Given the description of an element on the screen output the (x, y) to click on. 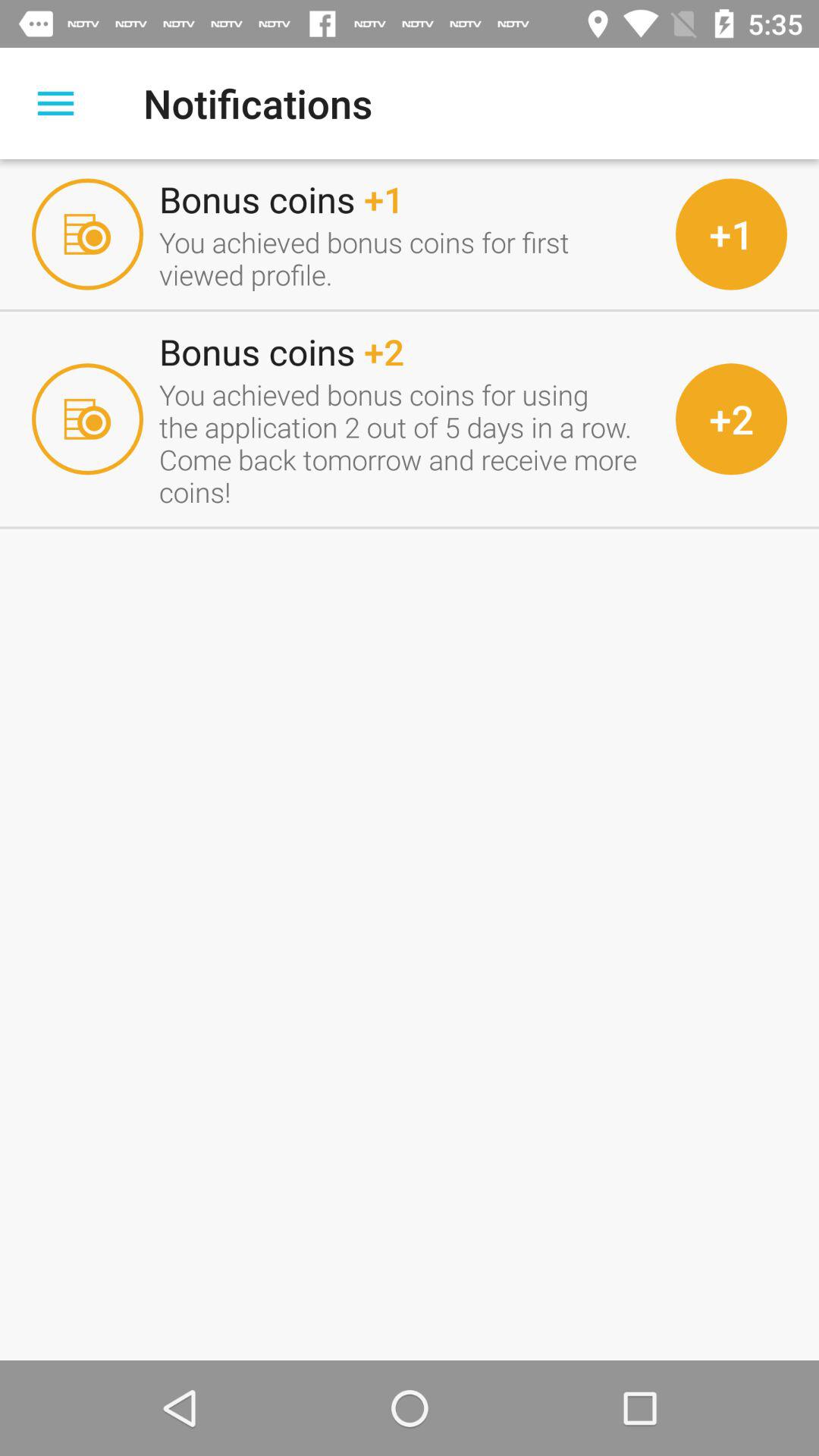
display menu (55, 103)
